Given the description of an element on the screen output the (x, y) to click on. 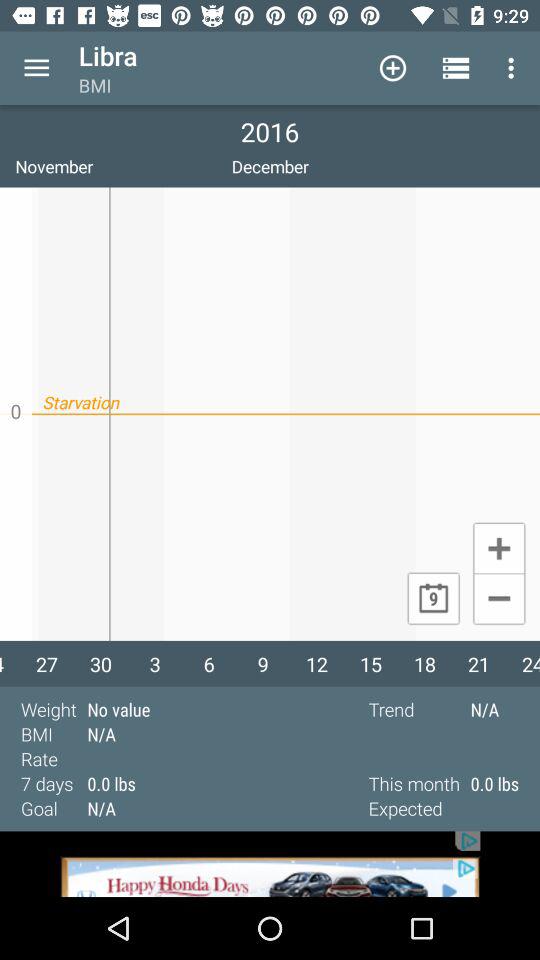
decrement button (498, 599)
